Given the description of an element on the screen output the (x, y) to click on. 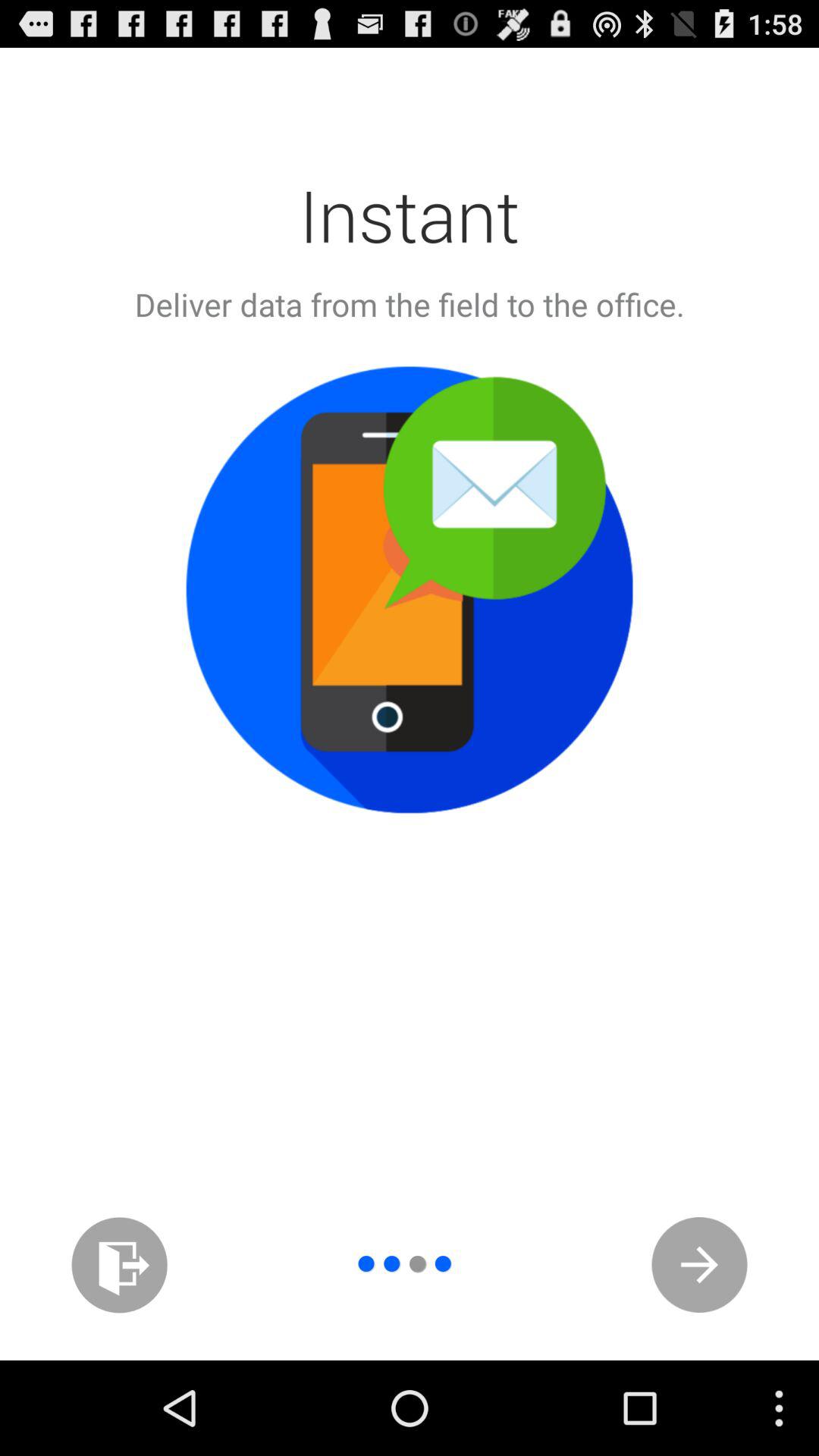
turn off icon at the bottom left corner (119, 1264)
